Given the description of an element on the screen output the (x, y) to click on. 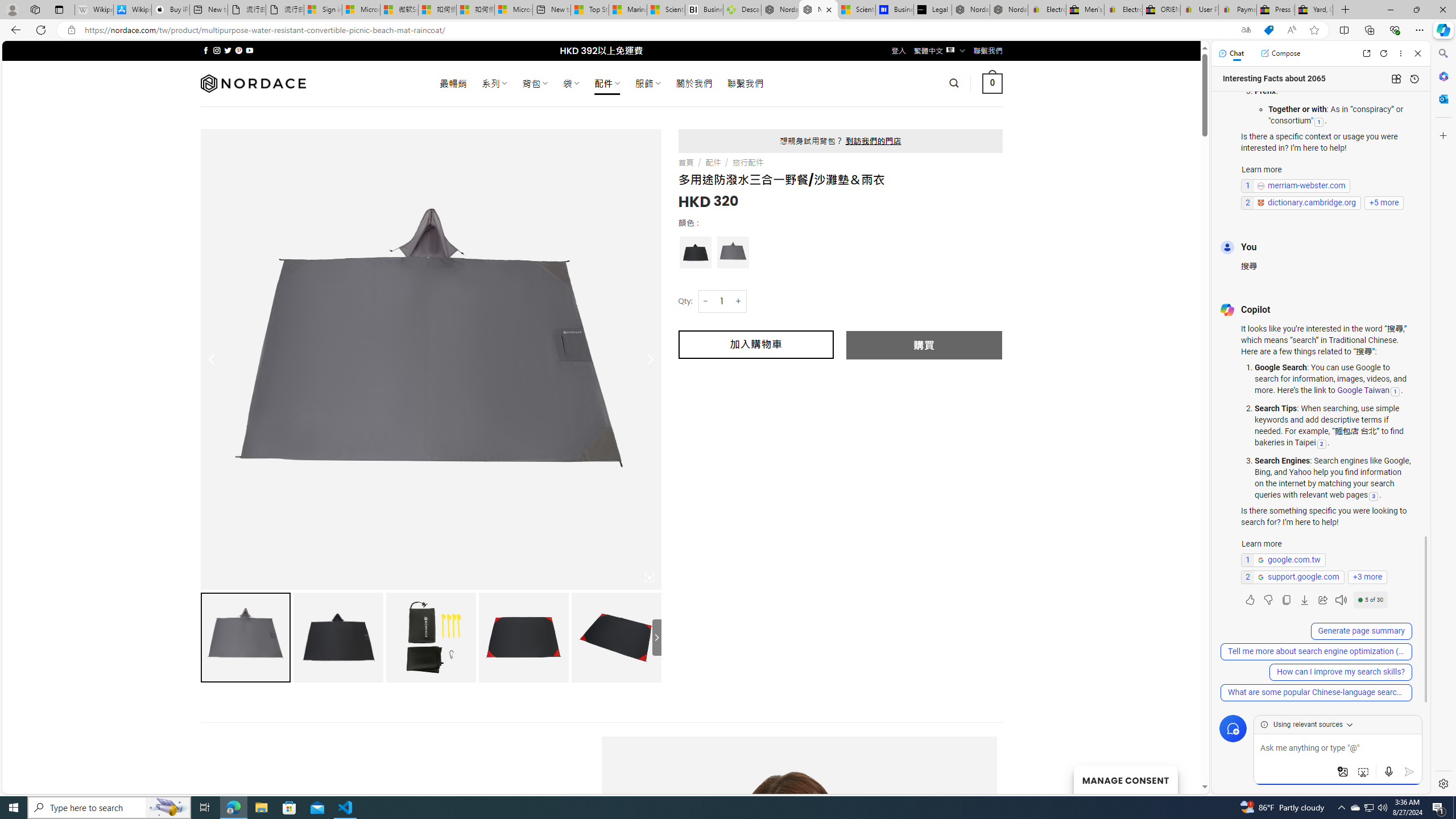
Compose (1280, 52)
 0  (992, 83)
Microsoft account | Account Checkup (513, 9)
Nordace - Summer Adventures 2024 (780, 9)
Yard, Garden & Outdoor Living (1314, 9)
